Given the description of an element on the screen output the (x, y) to click on. 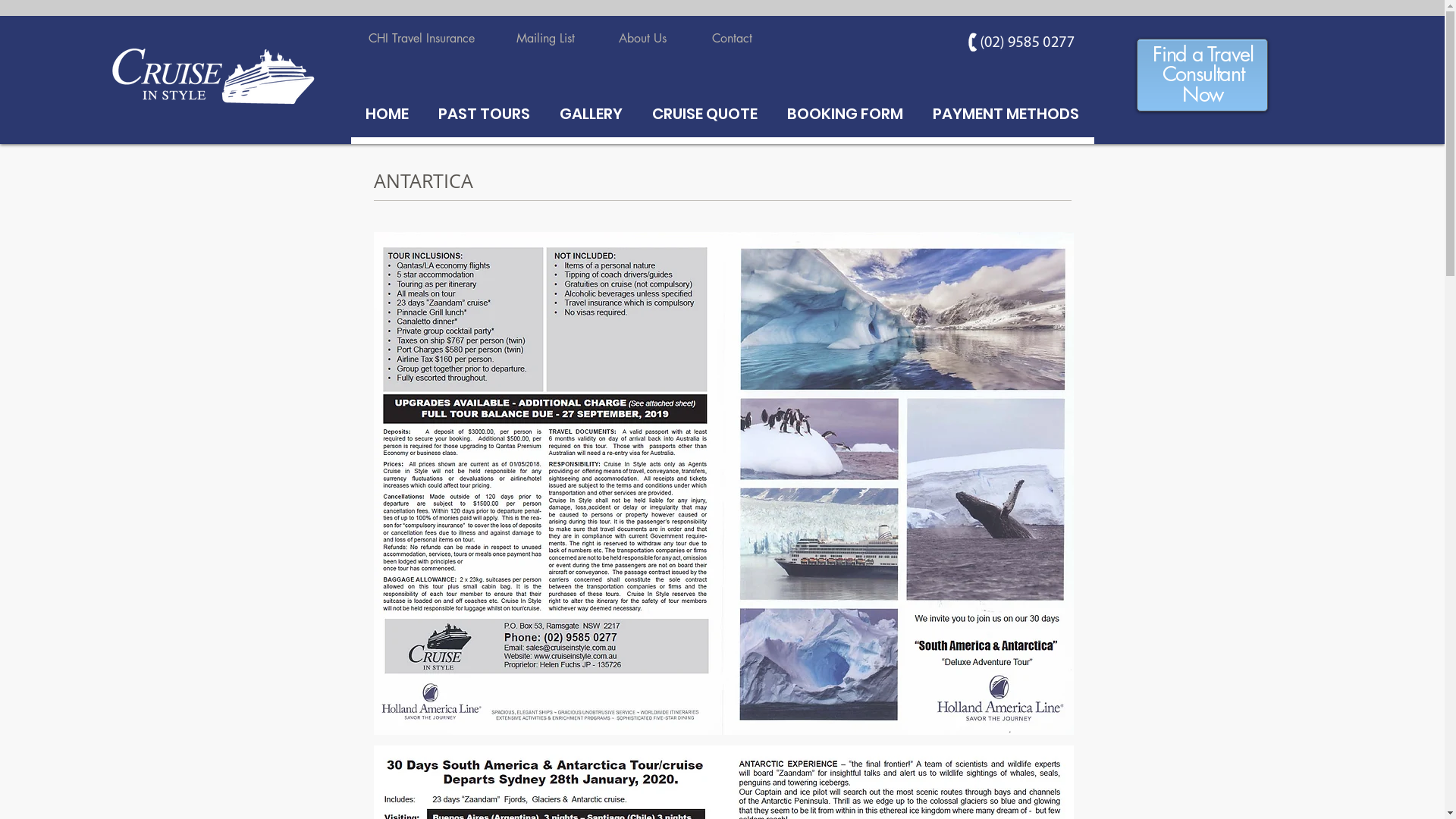
PAST TOURS Element type: text (483, 113)
GALLERY Element type: text (590, 113)
CRUISE QUOTE Element type: text (704, 113)
Mailing List Element type: text (544, 39)
Contact Element type: text (731, 39)
BOOKING FORM Element type: text (844, 113)
HOME Element type: text (386, 113)
Now Element type: text (1202, 96)
CHI Travel Insurance Element type: text (421, 39)
About Us Element type: text (642, 39)
Find a Travel Consultant Element type: text (1202, 65)
PAYMENT METHODS Element type: text (1004, 113)
